Given the description of an element on the screen output the (x, y) to click on. 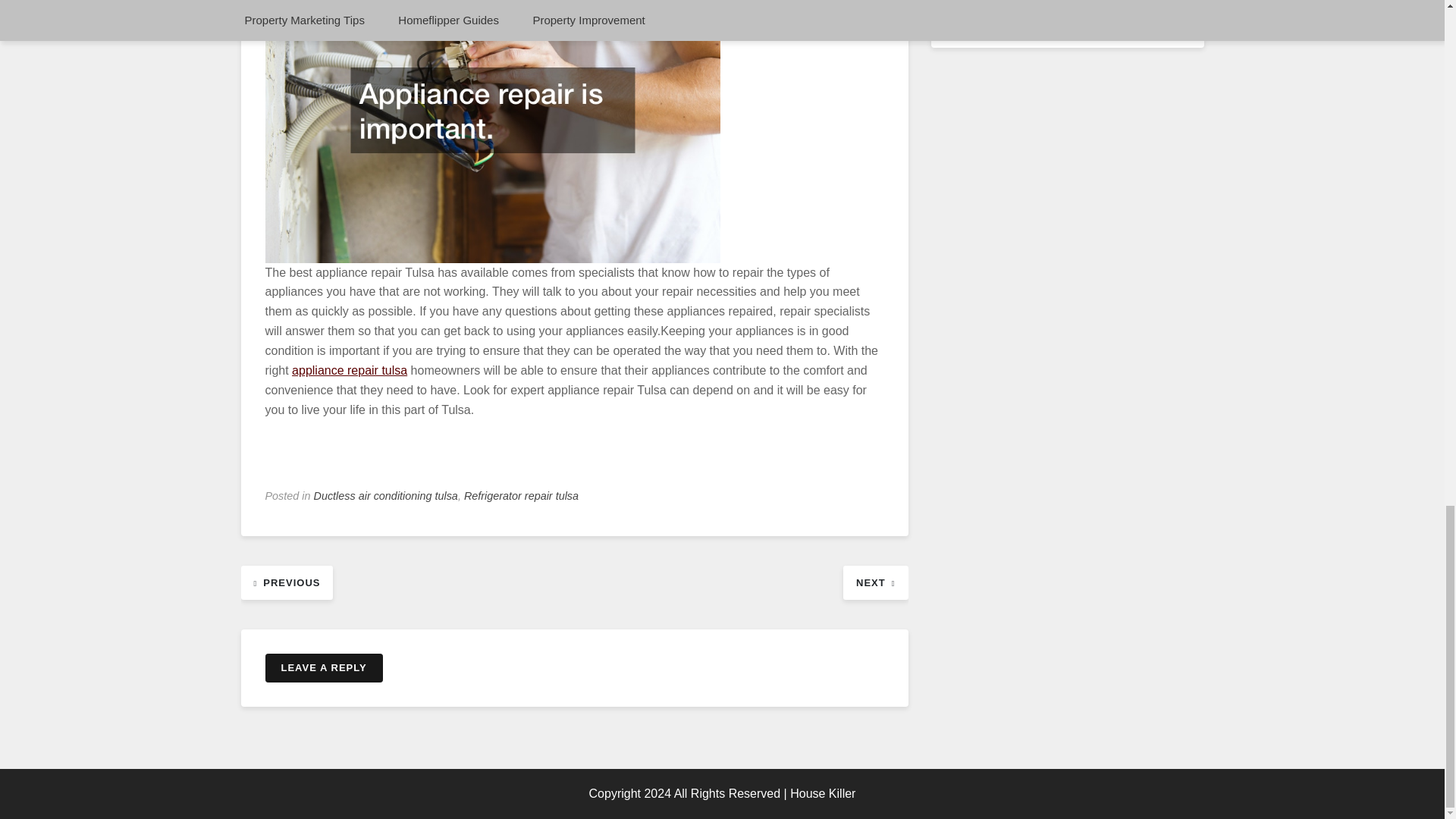
PREVIOUS (287, 581)
Refrigerator repair tulsa (521, 495)
Get more related to Refrigerator repair tulsa (349, 369)
NEXT (875, 581)
Ductless air conditioning tulsa (386, 495)
appliance repair tulsa (349, 369)
LEAVE A REPLY (323, 667)
